Given the description of an element on the screen output the (x, y) to click on. 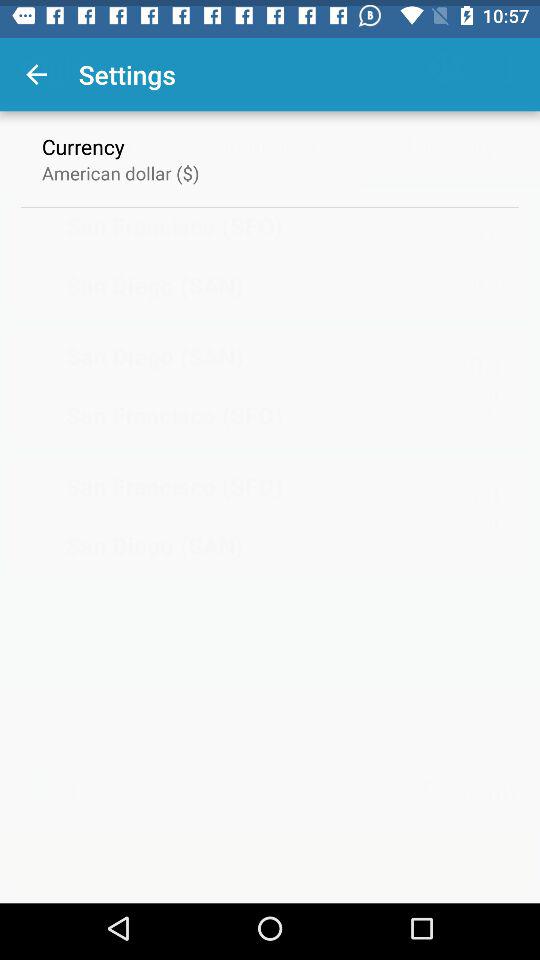
launch item to the left of settings app (36, 68)
